Given the description of an element on the screen output the (x, y) to click on. 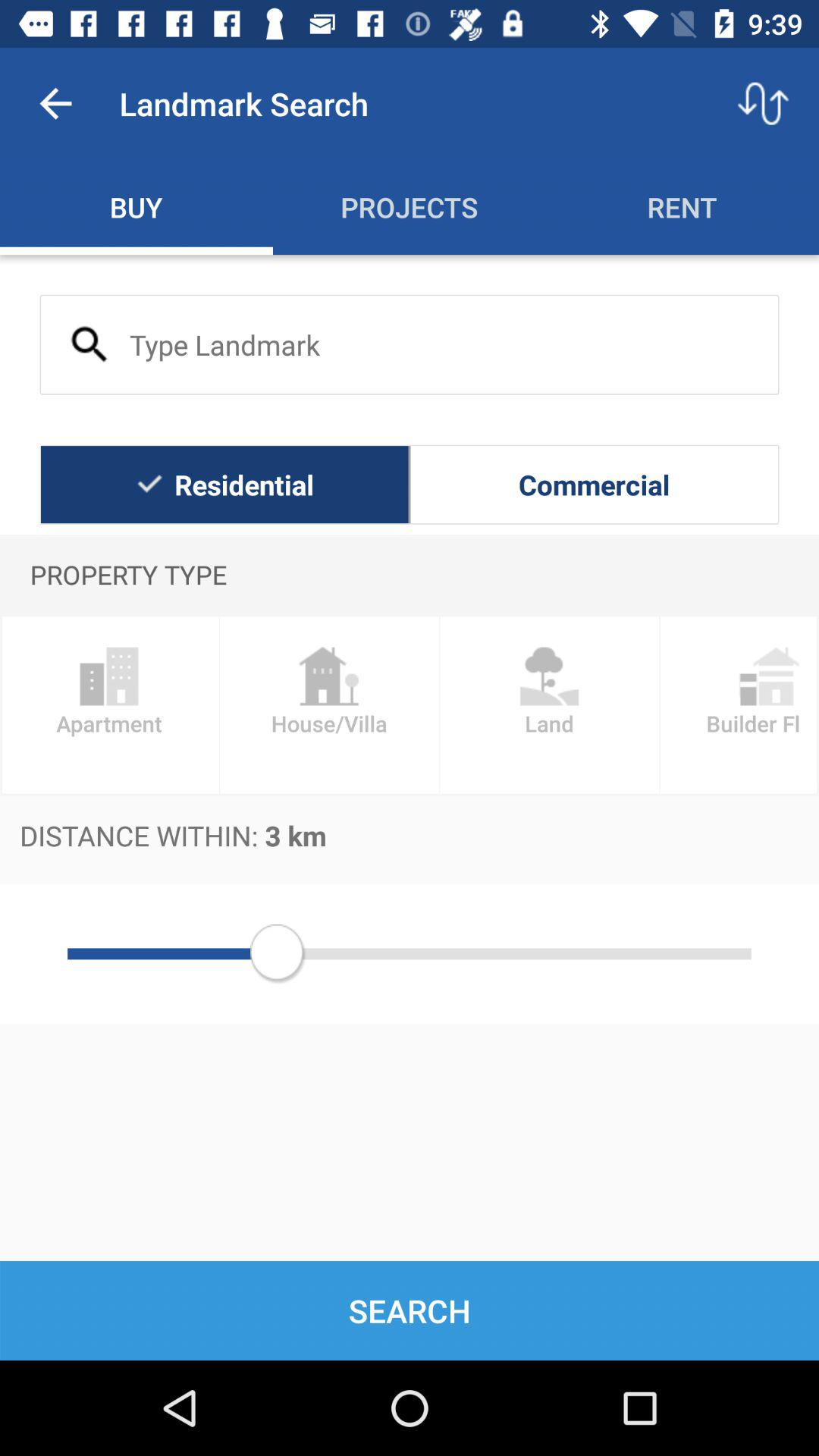
search (409, 344)
